Given the description of an element on the screen output the (x, y) to click on. 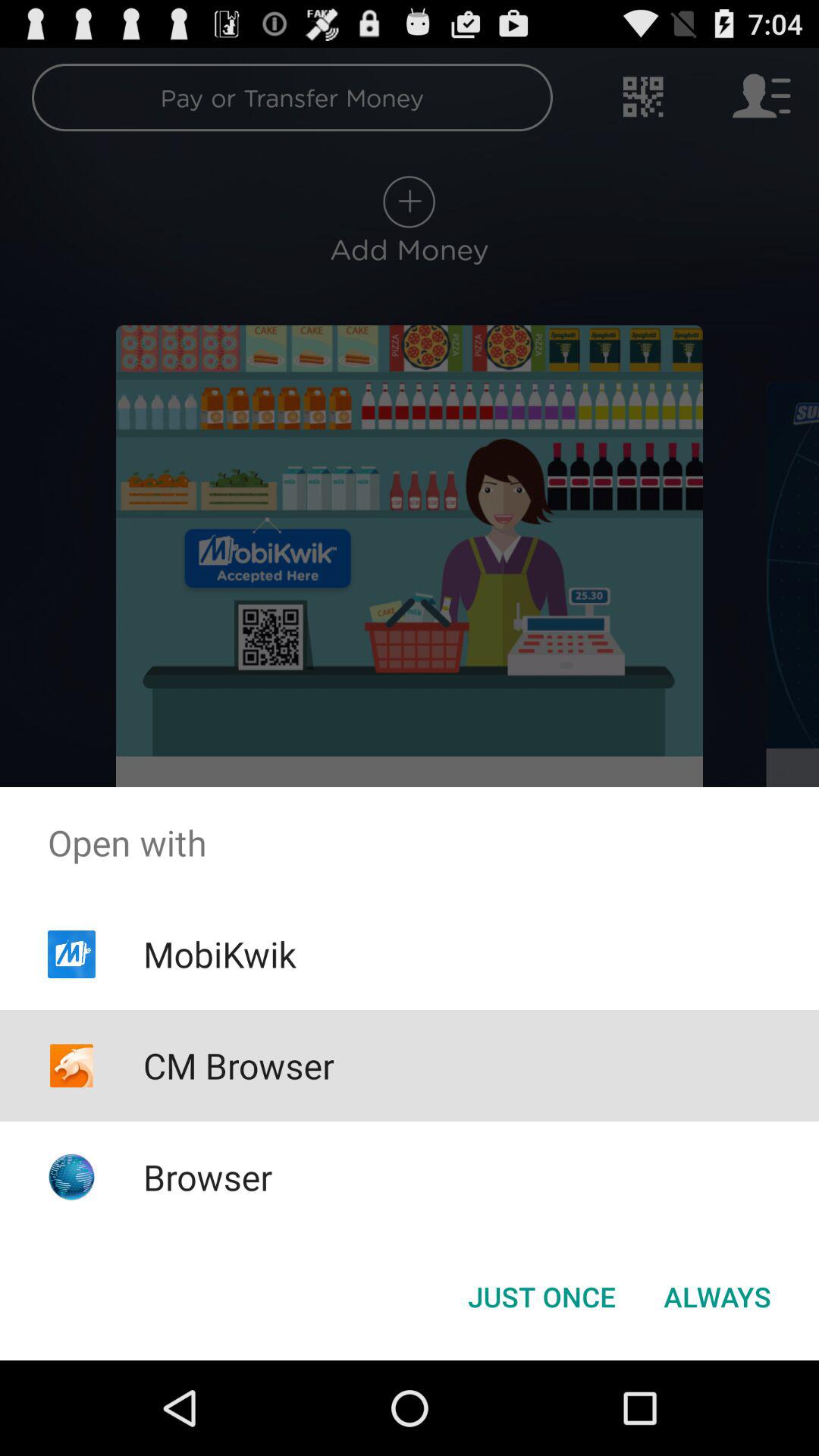
click item below mobikwik item (238, 1065)
